Given the description of an element on the screen output the (x, y) to click on. 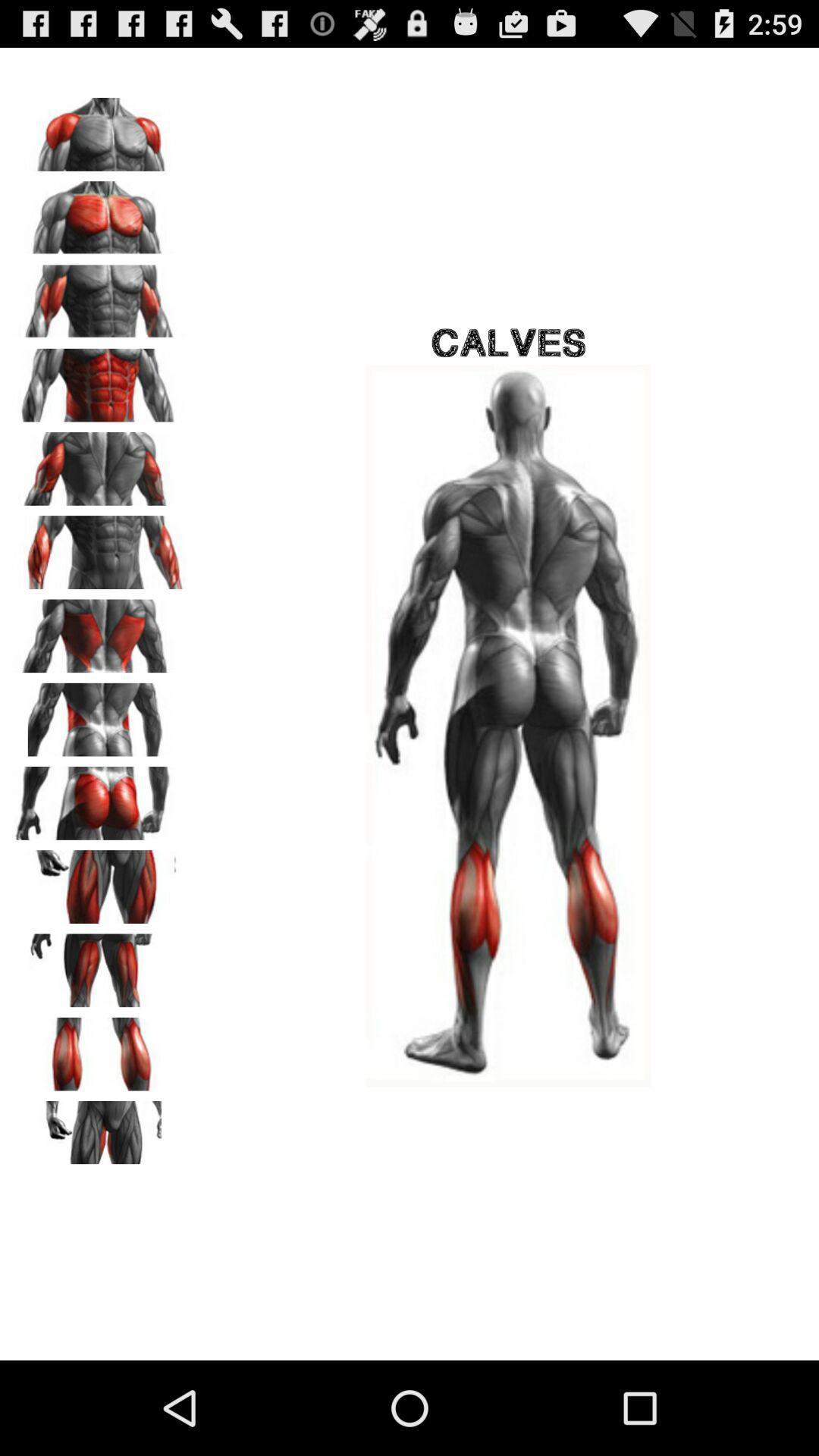
select calves of body (99, 1048)
